Given the description of an element on the screen output the (x, y) to click on. 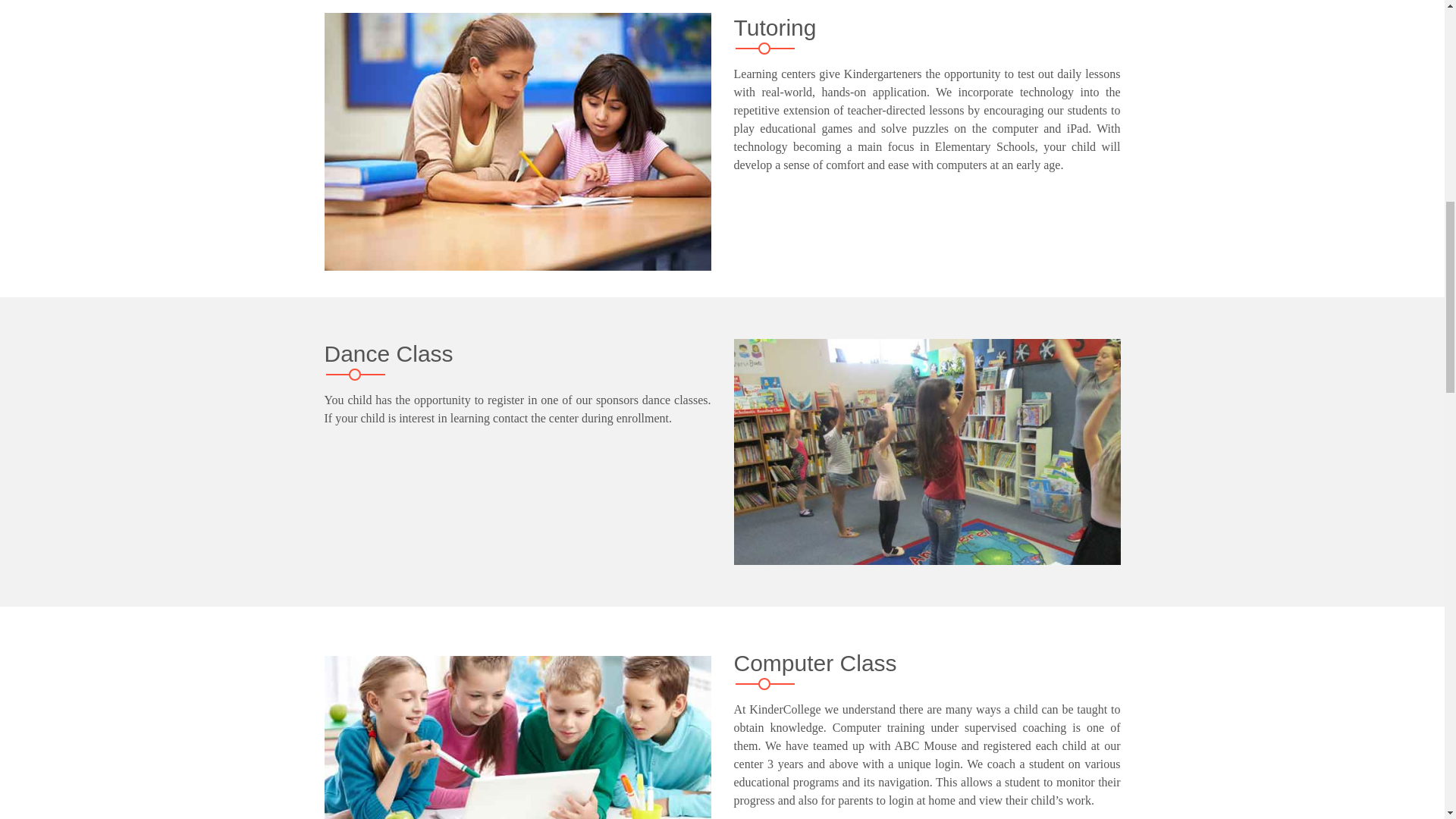
Enrichment Program Computer Class (517, 737)
Enrichment Program Dance class (927, 452)
Enrichment Program Tutoring (517, 142)
